Given the description of an element on the screen output the (x, y) to click on. 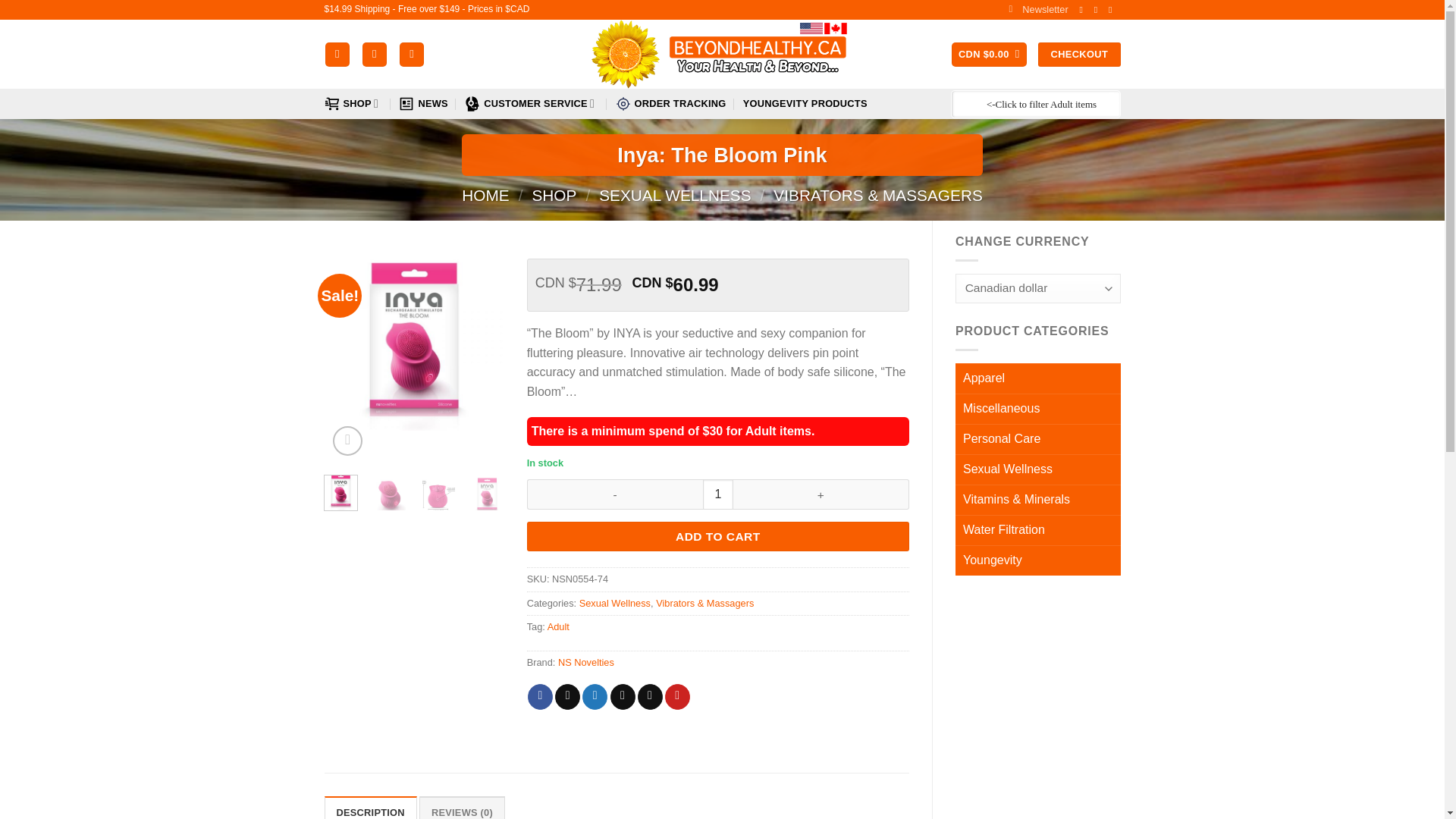
1 (718, 494)
View all posts filed under Apparel (1038, 378)
SHOP (353, 103)
CHECKOUT (1078, 54)
Login (374, 54)
Wishlist (410, 54)
Cart (989, 54)
View all posts filed under Miscellaneous (1038, 408)
Sign up for Newsletter (1038, 9)
Newsletter (1038, 9)
- (615, 494)
